Given the description of an element on the screen output the (x, y) to click on. 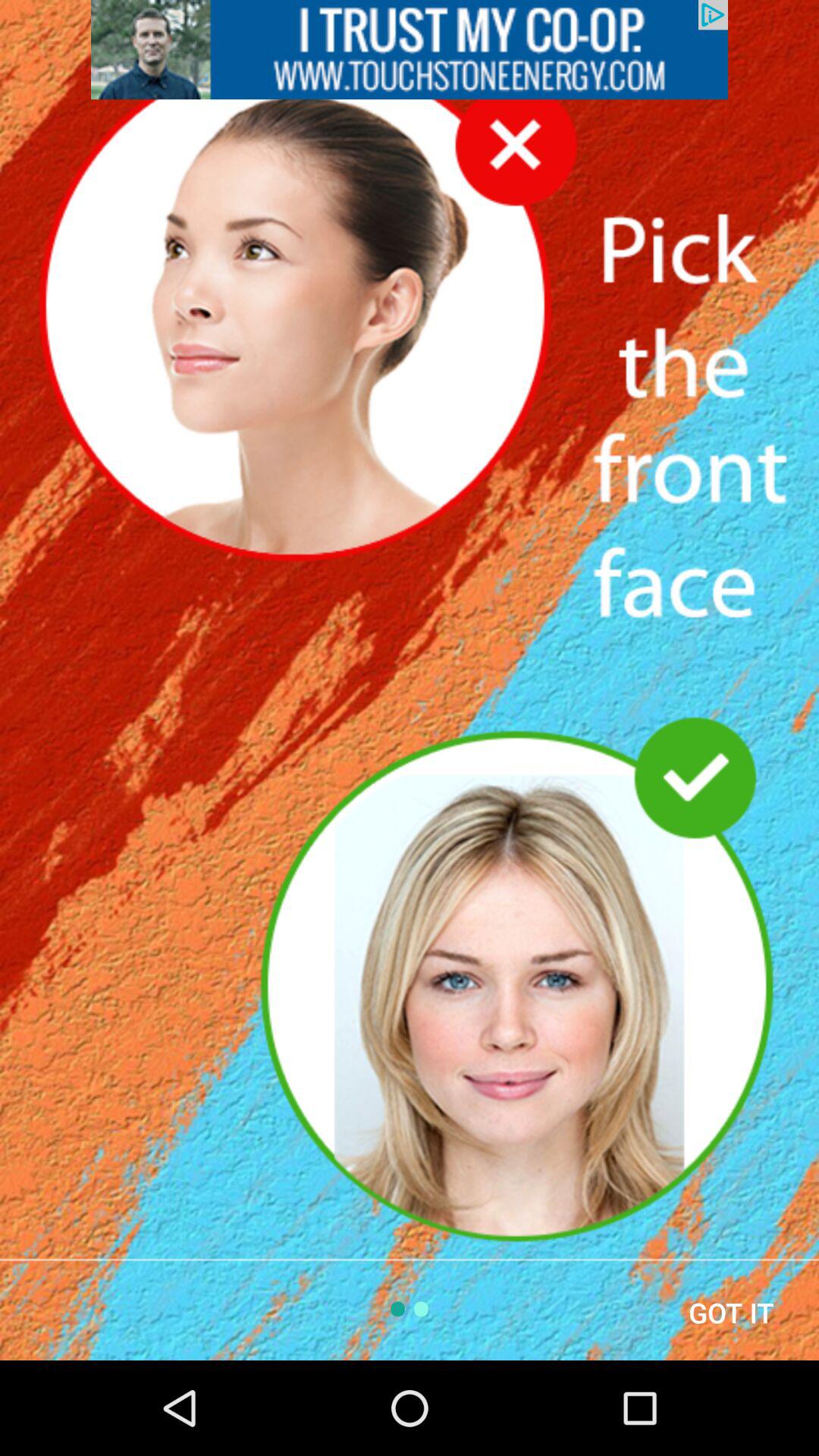
sponsored content (409, 49)
